Given the description of an element on the screen output the (x, y) to click on. 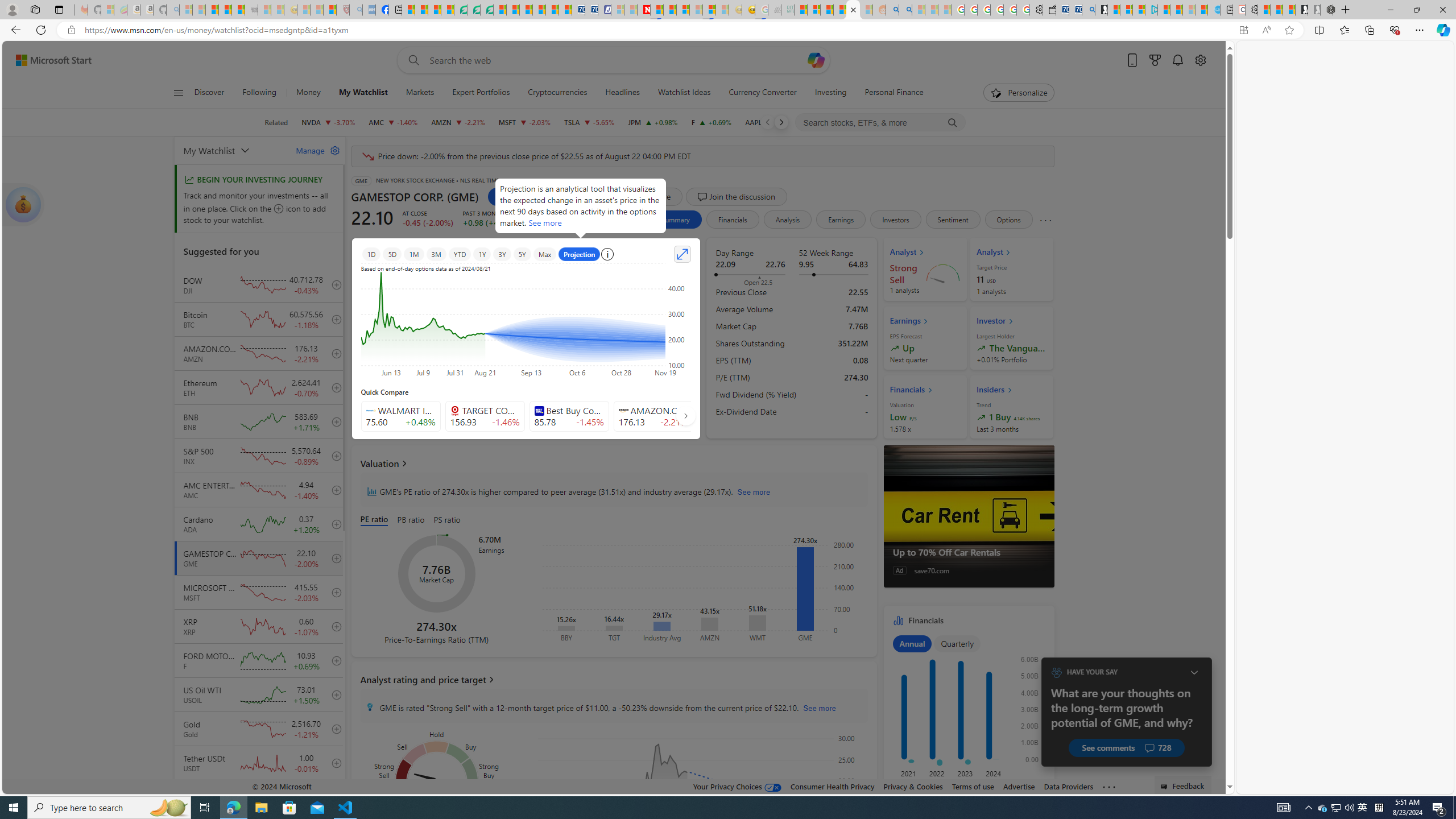
Combat Siege (251, 9)
Personal Finance (893, 92)
PB ratio (411, 520)
DITOGAMES AG Imprint - Sleeping (787, 9)
14 Common Myths Debunked By Scientific Facts (669, 9)
5D (391, 254)
5Y (521, 254)
Open navigation menu (177, 92)
The Weather Channel - MSN (212, 9)
